Given the description of an element on the screen output the (x, y) to click on. 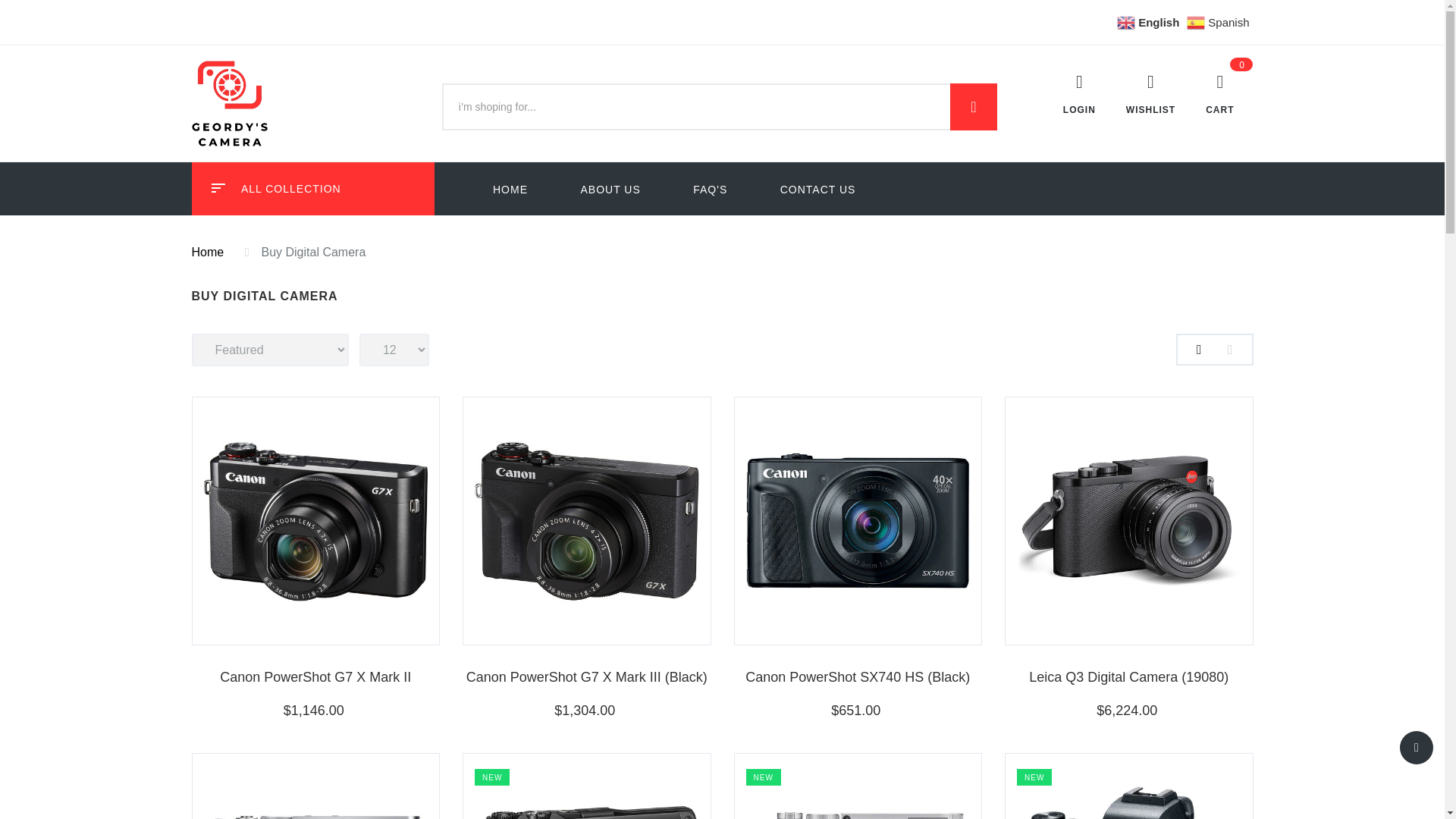
LOGIN (1093, 99)
Spanish (1219, 21)
English (1149, 21)
ALL COLLECTION (311, 188)
WISHLIST (1165, 99)
